Given the description of an element on the screen output the (x, y) to click on. 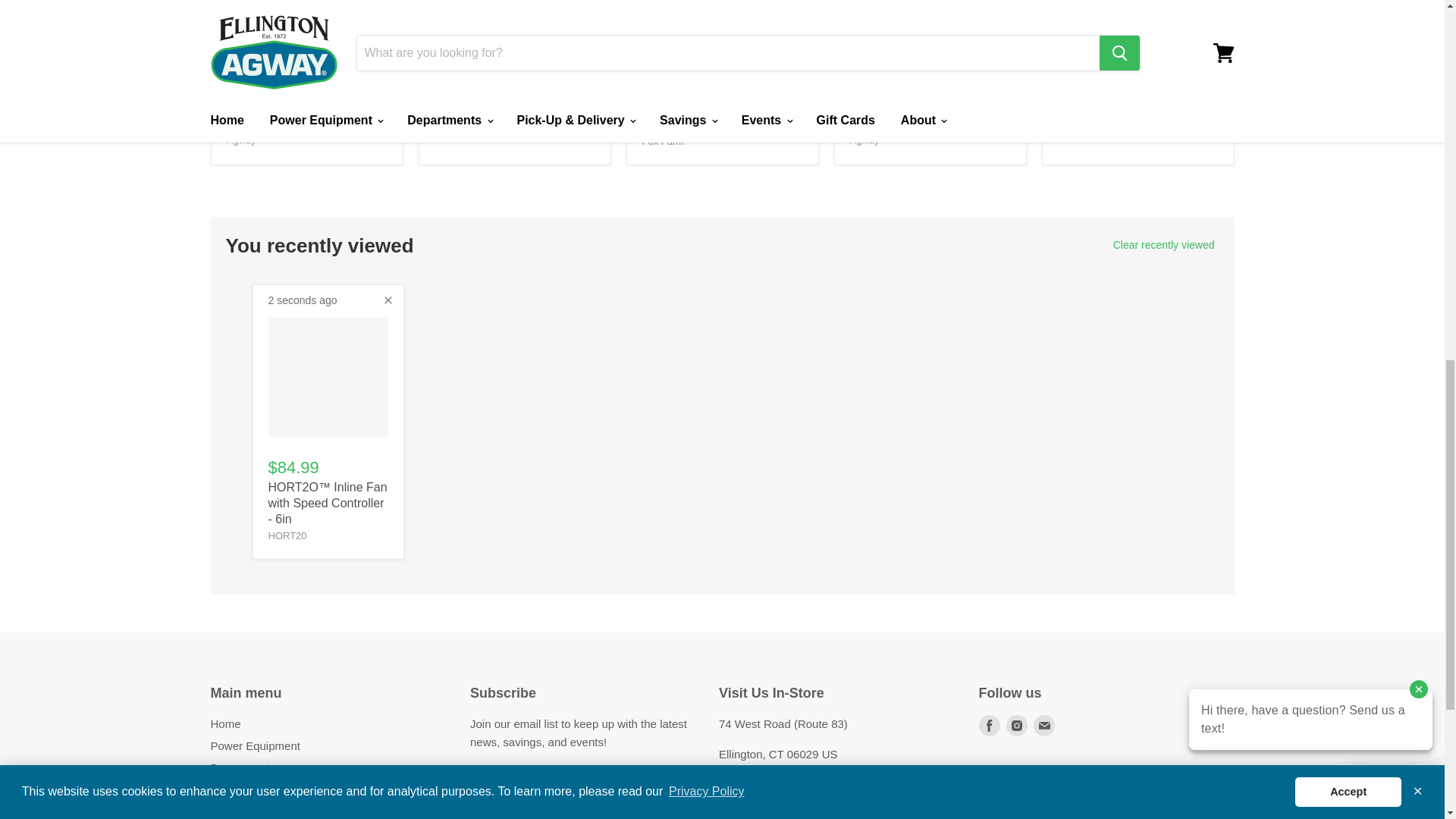
E-mail (1043, 725)
Facebook (989, 725)
Instagram (1016, 725)
